Given the description of an element on the screen output the (x, y) to click on. 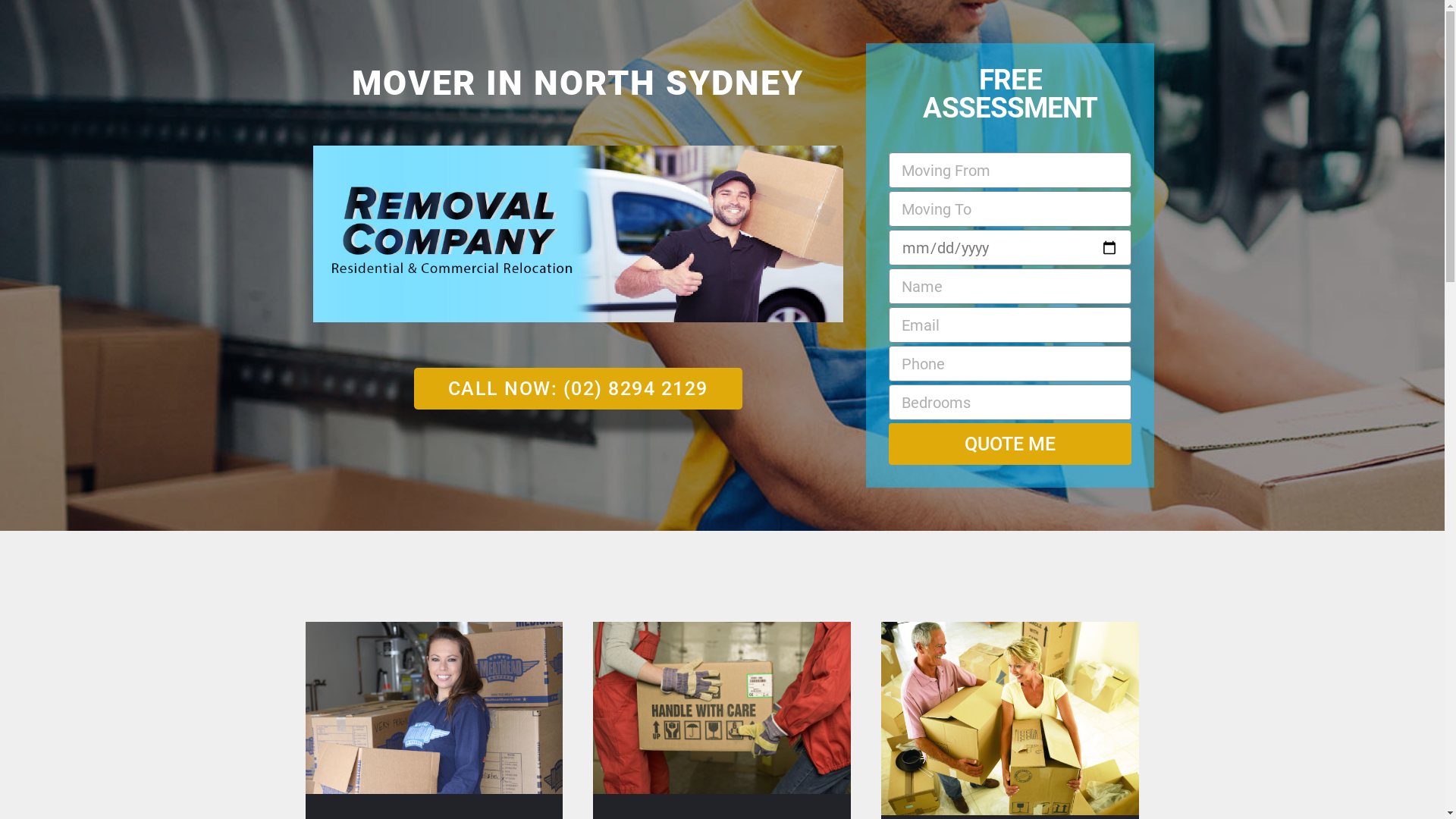
CALL NOW: (02) 8294 2129 Element type: text (578, 388)
Experienced Removalists North Sydney Element type: hover (721, 707)
QUOTE ME Element type: text (1009, 443)
Local Removalists North Sydney Element type: hover (433, 707)
Award Winning Removal Services in North Sydney Element type: hover (1010, 718)
